Given the description of an element on the screen output the (x, y) to click on. 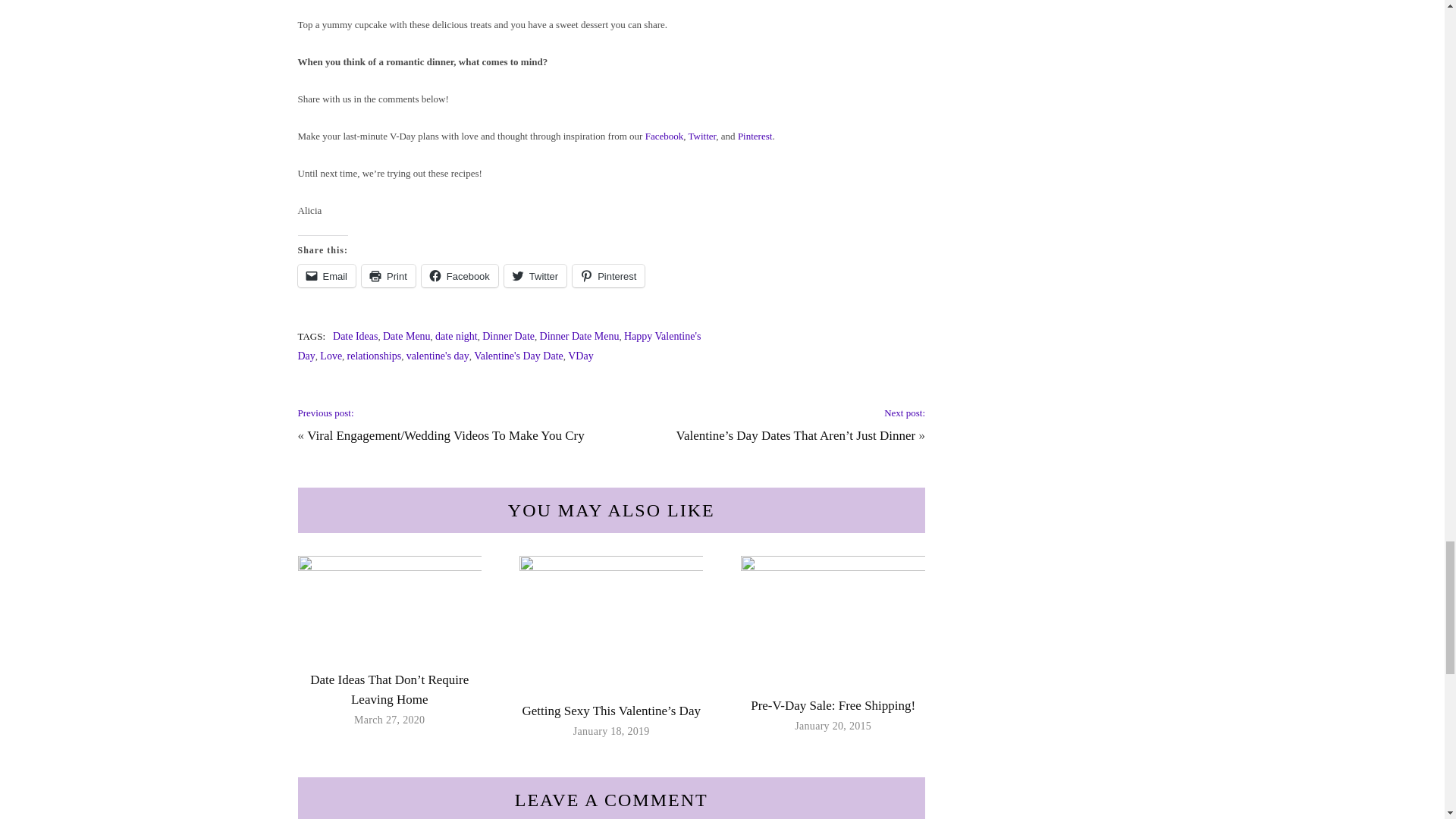
Twitter (702, 135)
VDay (579, 355)
Dinner Date Menu (580, 336)
Pinterest (755, 135)
Date Ideas (355, 336)
Pinterest (608, 275)
Facebook (459, 275)
Dinner Date (507, 336)
Valentine's Day Date (518, 355)
Click to print (387, 275)
